Given the description of an element on the screen output the (x, y) to click on. 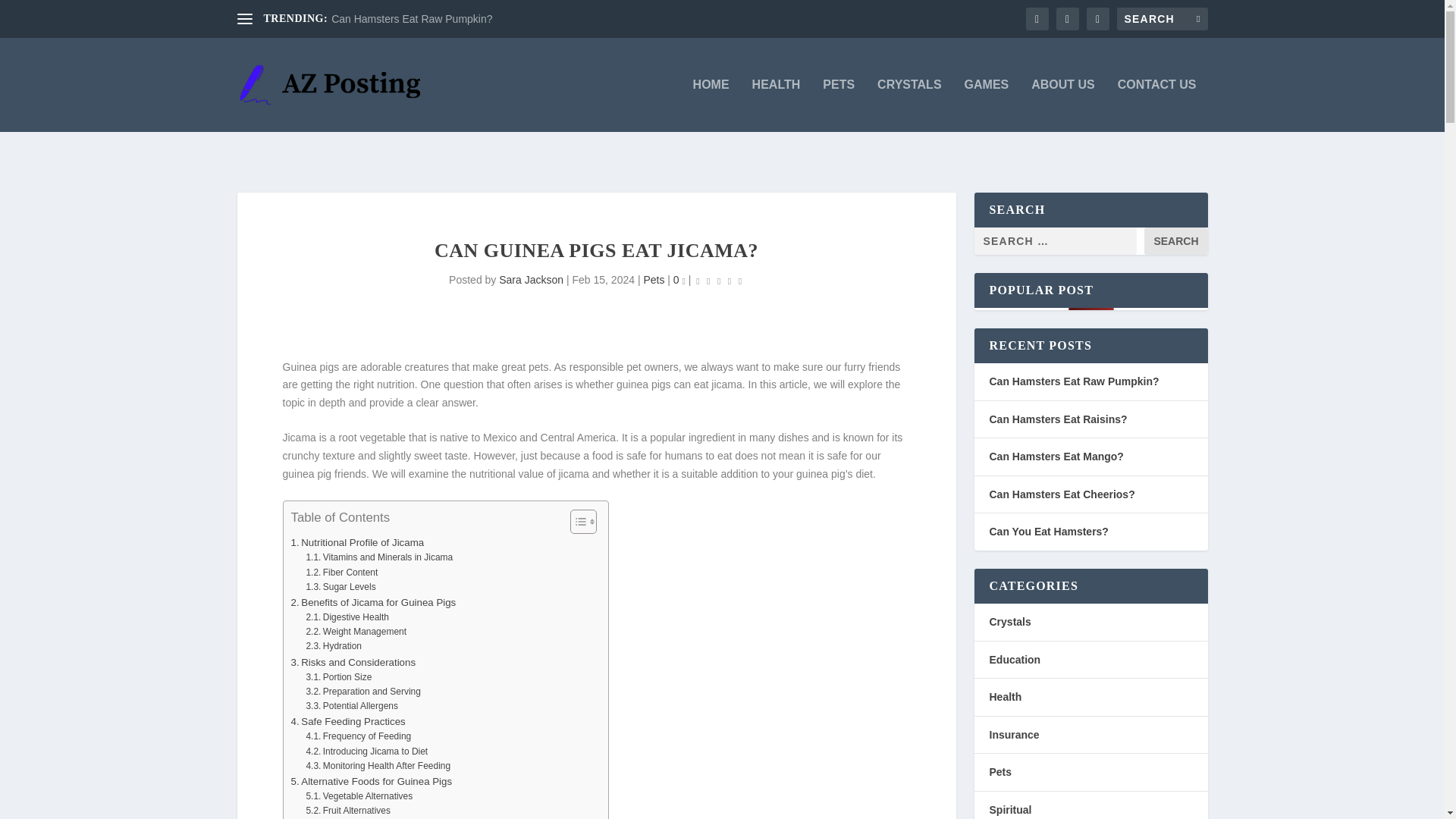
Nutritional Profile of Jicama (358, 542)
Weight Management (355, 631)
Pets (653, 279)
Frequency of Feeding (357, 736)
Fiber Content (341, 572)
Introducing Jicama to Diet (366, 751)
Sugar Levels (340, 586)
Fiber Content (341, 572)
HEALTH (776, 104)
Digestive Health (346, 617)
